Given the description of an element on the screen output the (x, y) to click on. 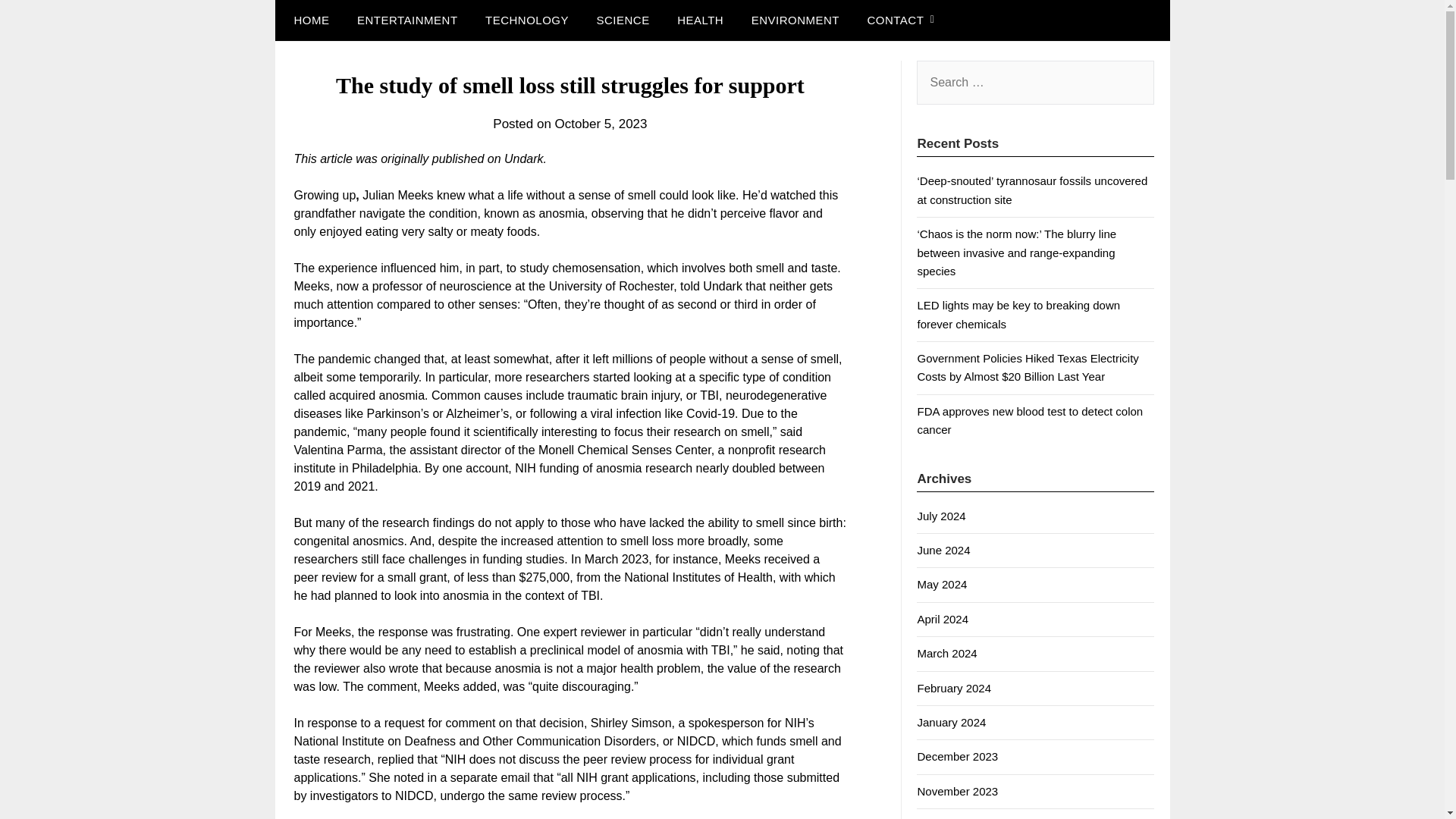
January 2024 (951, 721)
ENVIRONMENT (795, 20)
December 2023 (957, 756)
April 2024 (942, 618)
Search (38, 22)
June 2024 (943, 549)
TECHNOLOGY (526, 20)
HEALTH (700, 20)
CONTACT (895, 20)
November 2023 (957, 790)
SCIENCE (622, 20)
March 2024 (946, 653)
February 2024 (954, 687)
July 2024 (941, 515)
ENTERTAINMENT (407, 20)
